Given the description of an element on the screen output the (x, y) to click on. 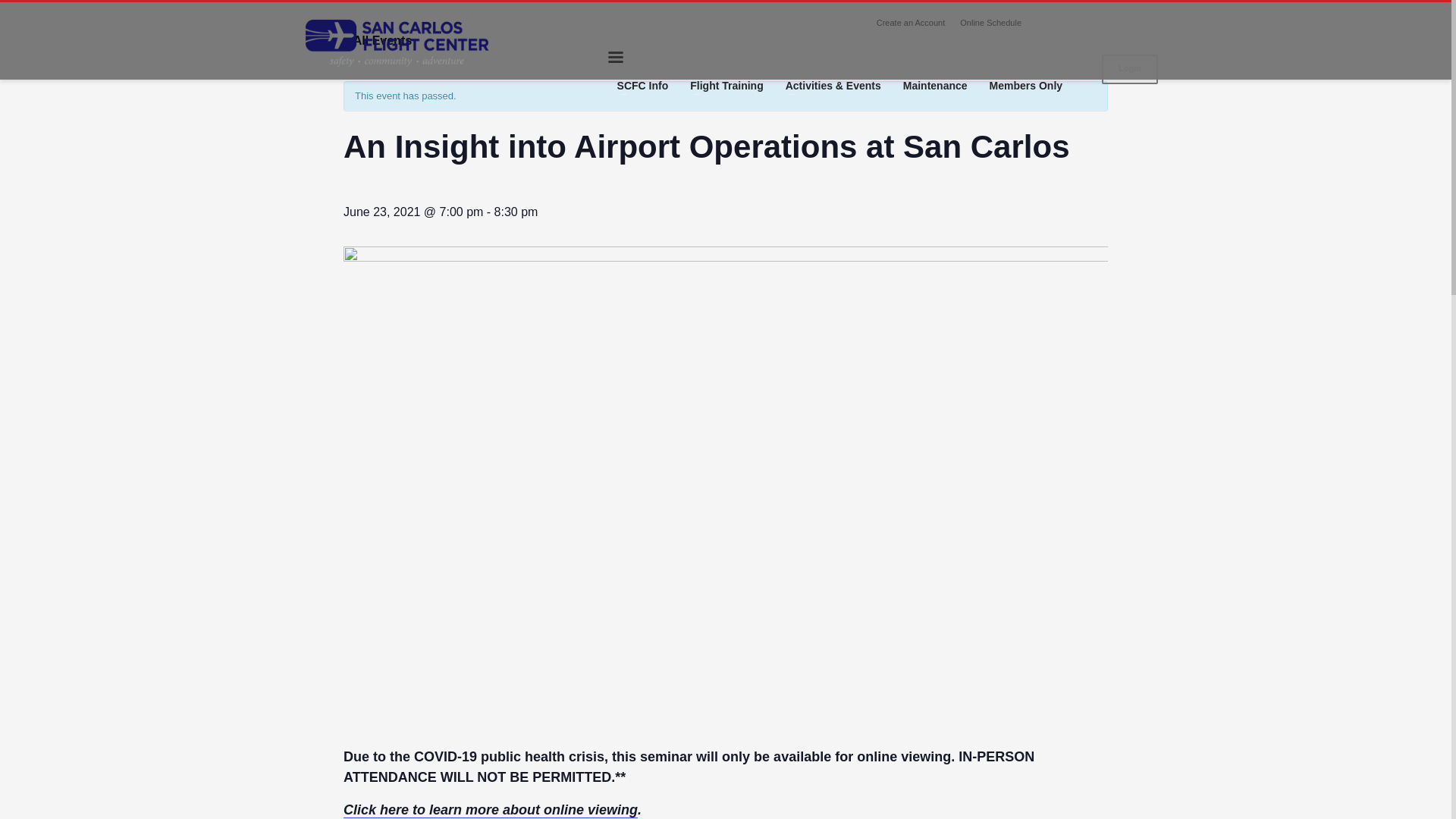
YouTube (1123, 22)
Login (1129, 69)
Create an Account (910, 22)
Instagram (1078, 22)
Facebook (1055, 22)
SCFC Info (643, 85)
Twitter (1100, 22)
Flight Training (726, 85)
Email (1146, 22)
Online Schedule (990, 22)
